Given the description of an element on the screen output the (x, y) to click on. 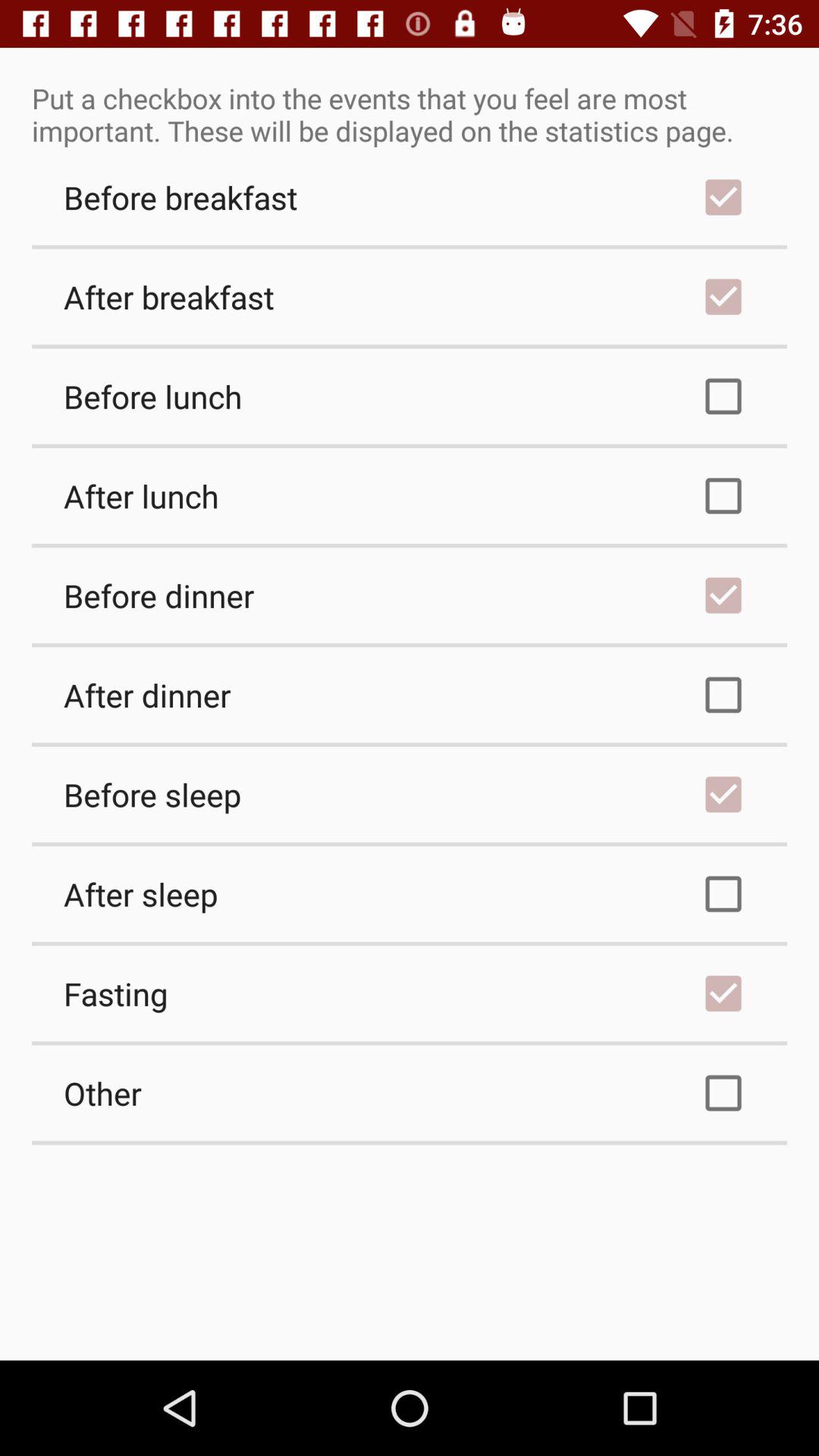
press icon below the after sleep item (409, 993)
